Given the description of an element on the screen output the (x, y) to click on. 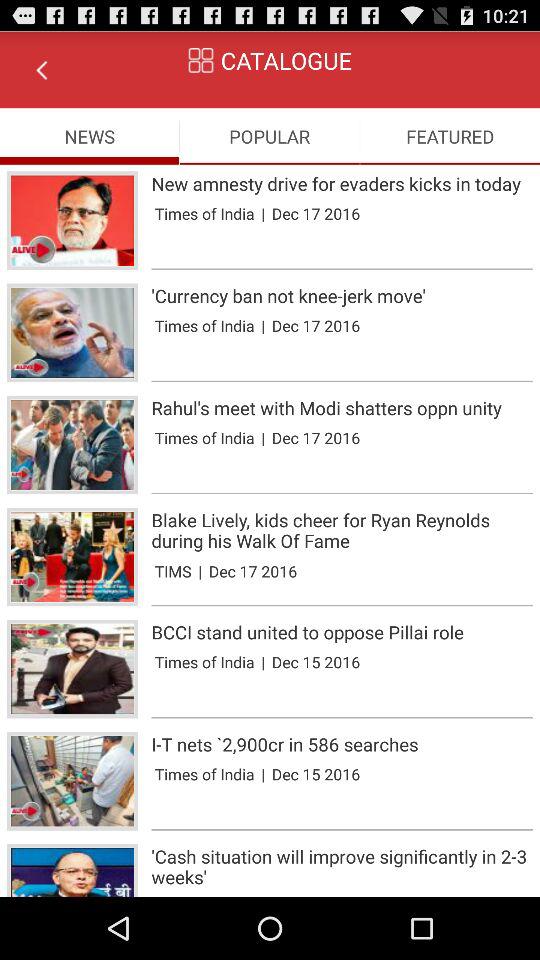
choose item above currency ban not (342, 269)
